Given the description of an element on the screen output the (x, y) to click on. 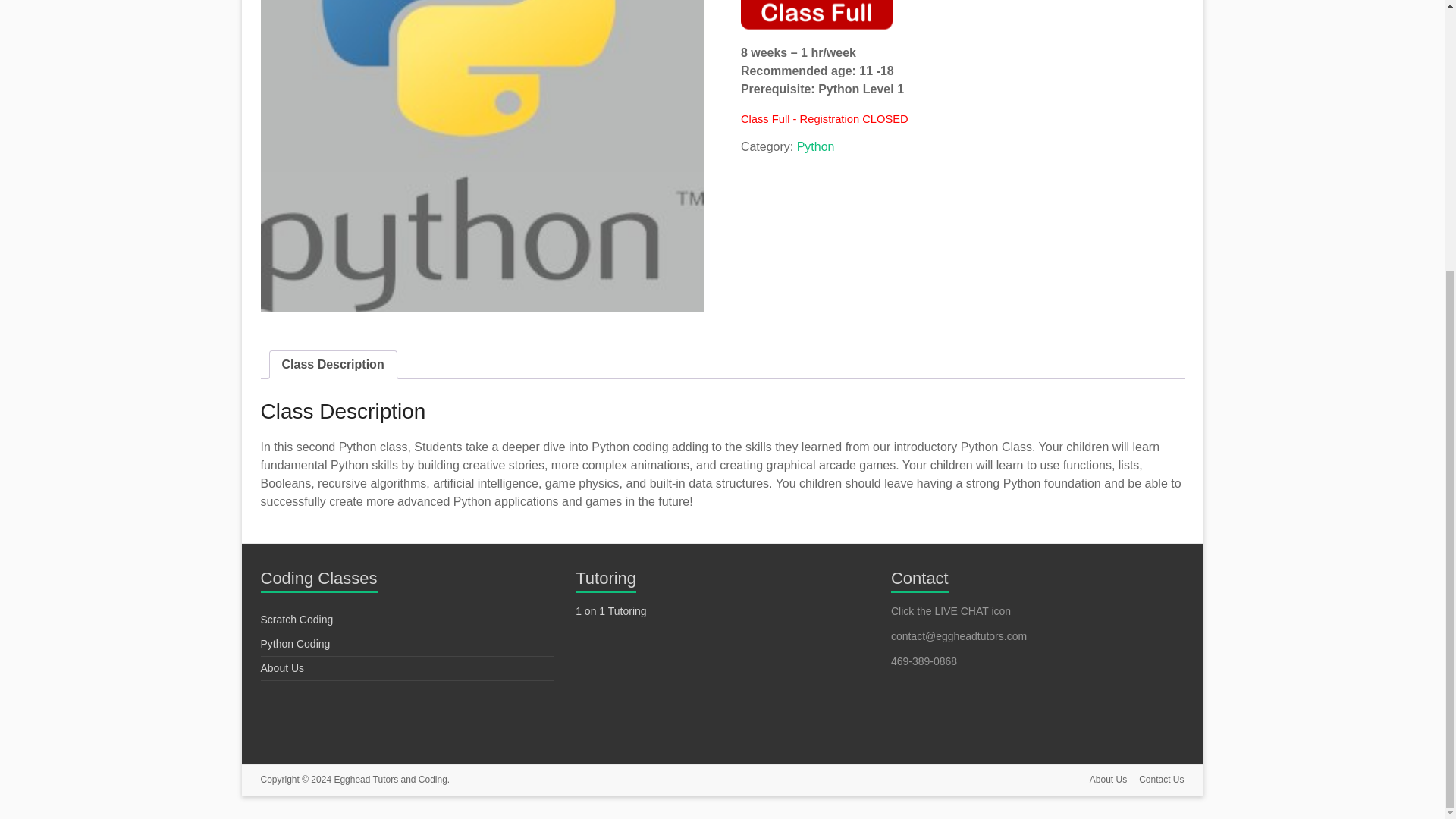
Python Coding (295, 644)
About Us (1101, 780)
About Us (282, 667)
Egghead Tutors and Coding (391, 778)
Scratch Coding (296, 619)
Python (815, 146)
Class Description (333, 364)
1 on 1 Tutoring (610, 610)
Egghead Tutors and Coding. (391, 778)
